Given the description of an element on the screen output the (x, y) to click on. 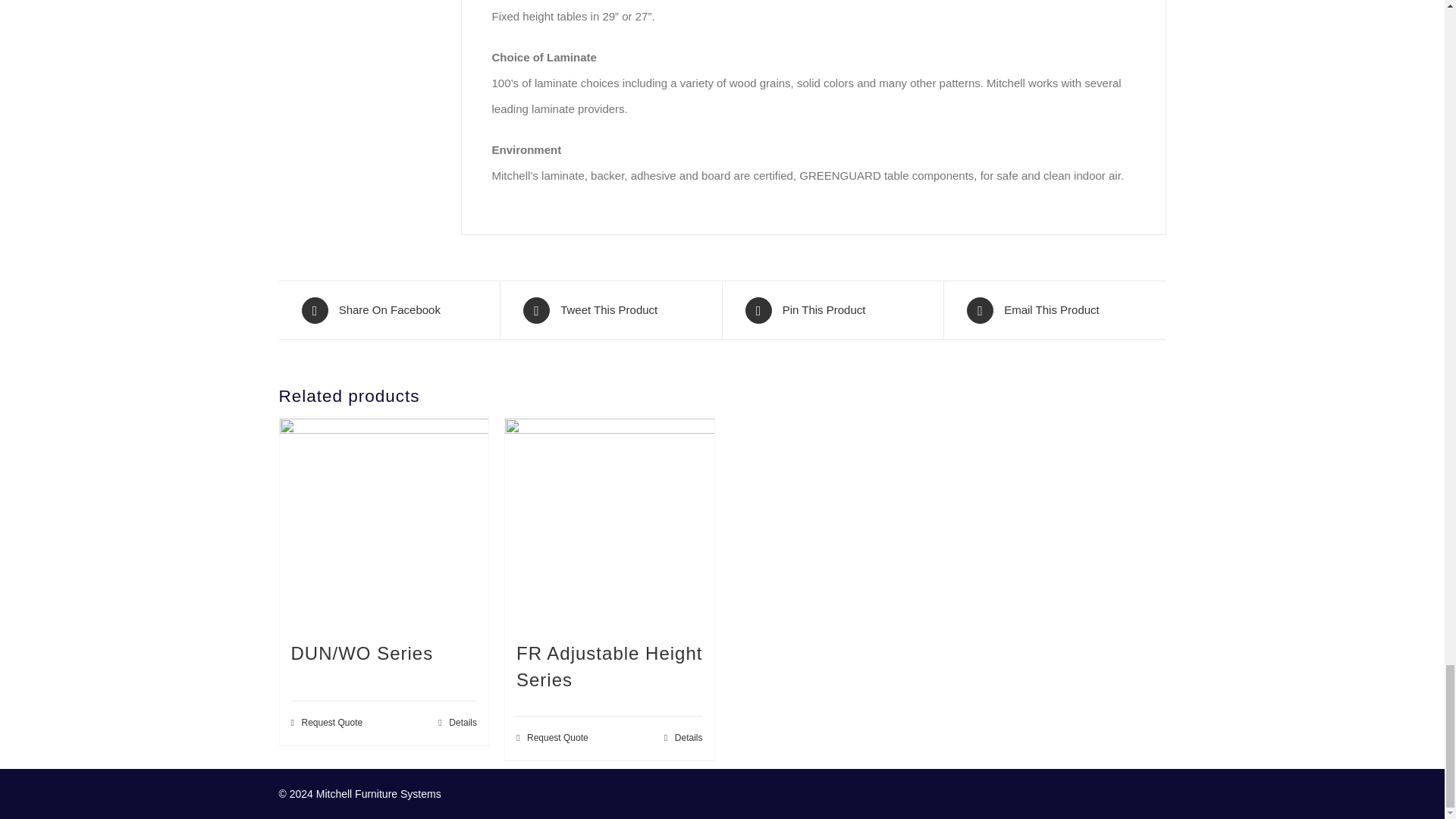
Pin This Product (832, 309)
Email This Product (1054, 309)
Share On Facebook (389, 309)
Tweet This Product (610, 309)
